Given the description of an element on the screen output the (x, y) to click on. 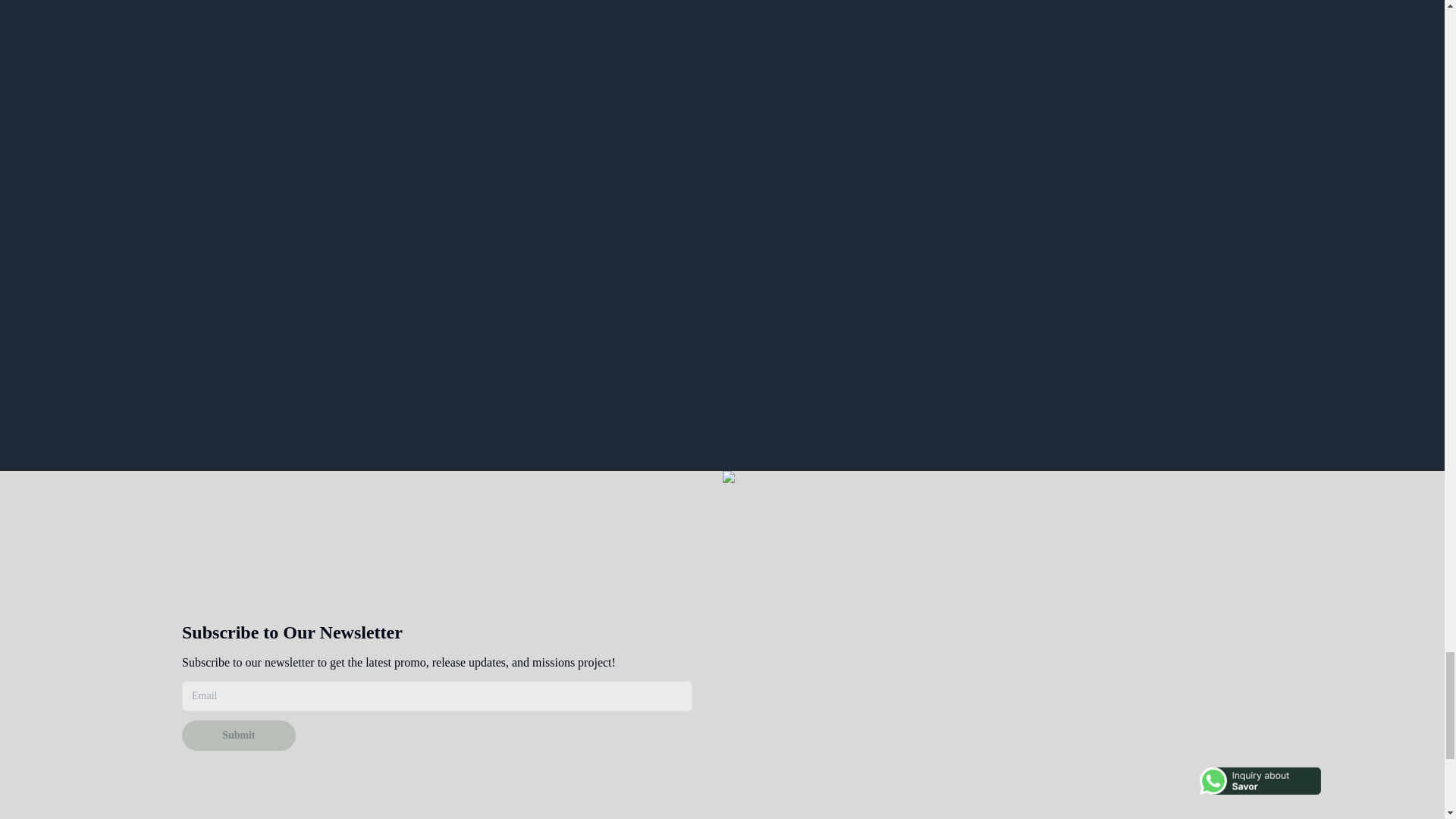
Submit (238, 735)
